Given the description of an element on the screen output the (x, y) to click on. 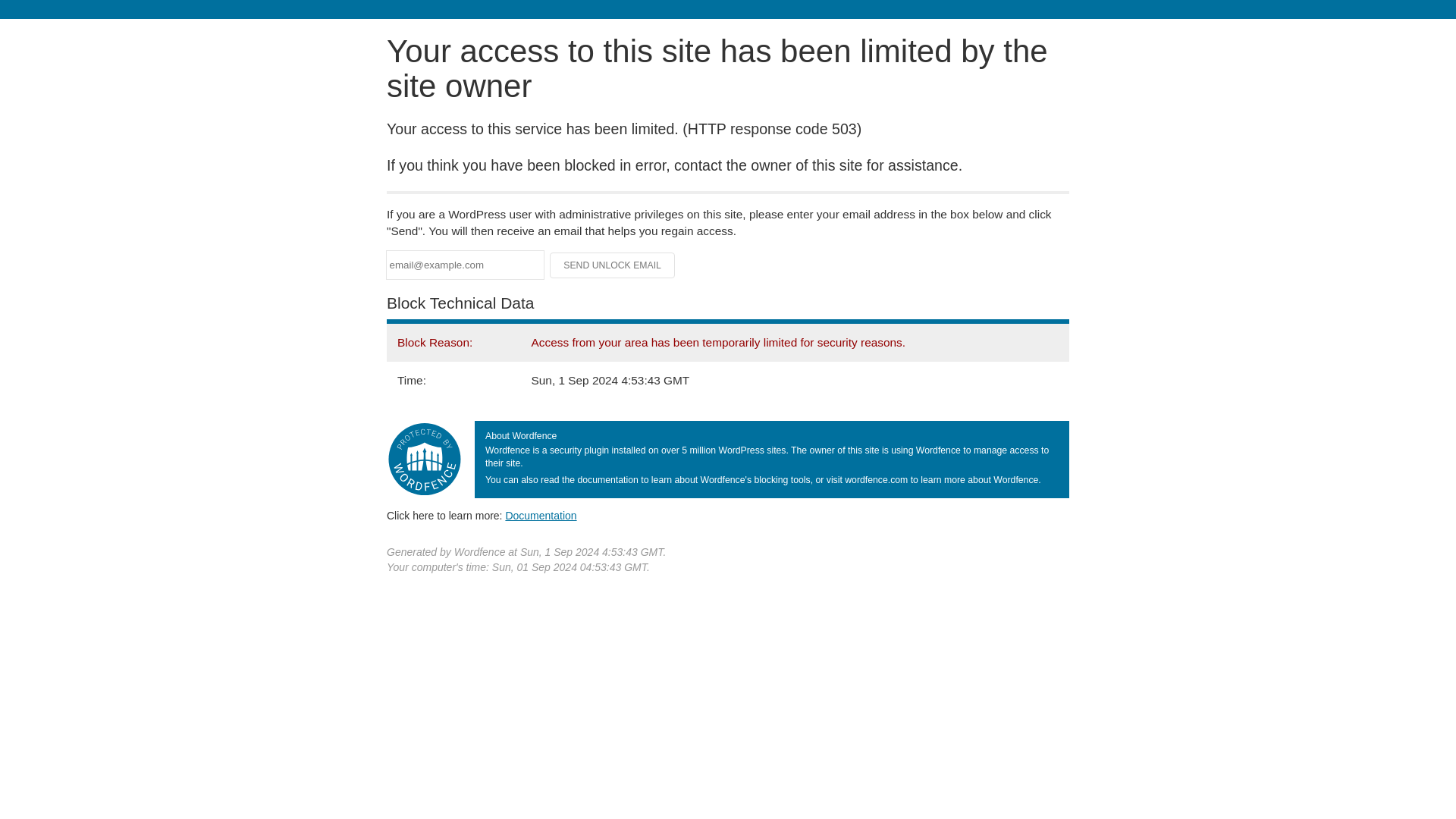
Send Unlock Email (612, 265)
Documentation (540, 515)
Send Unlock Email (612, 265)
